Given the description of an element on the screen output the (x, y) to click on. 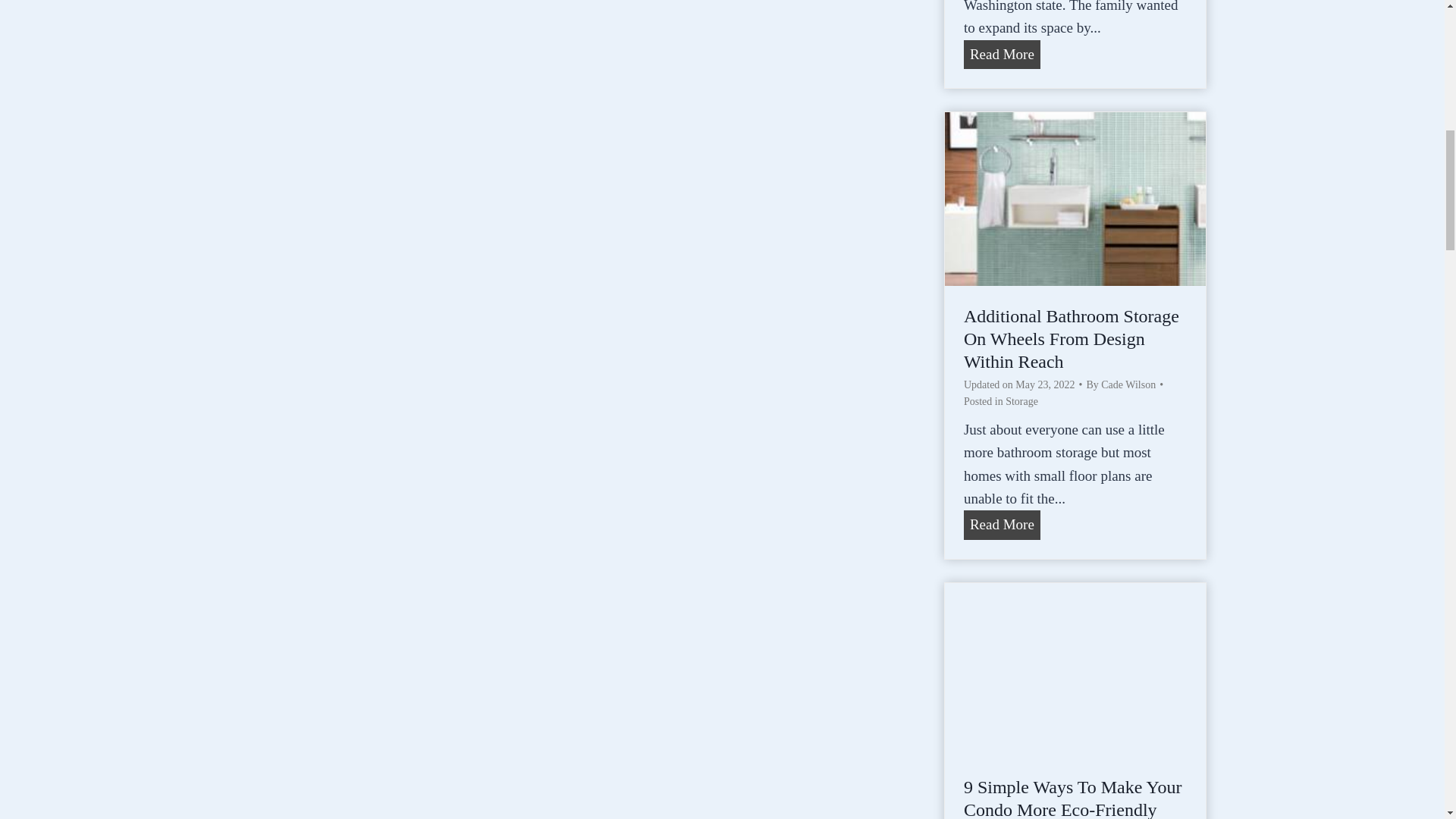
Cade Wilson (1128, 384)
Storage (1022, 401)
9 Simple Ways to Make Your Condo More Eco-Friendly 4 (1002, 54)
9 Simple Ways To Make Your Condo More Eco-Friendly (1074, 669)
